Given the description of an element on the screen output the (x, y) to click on. 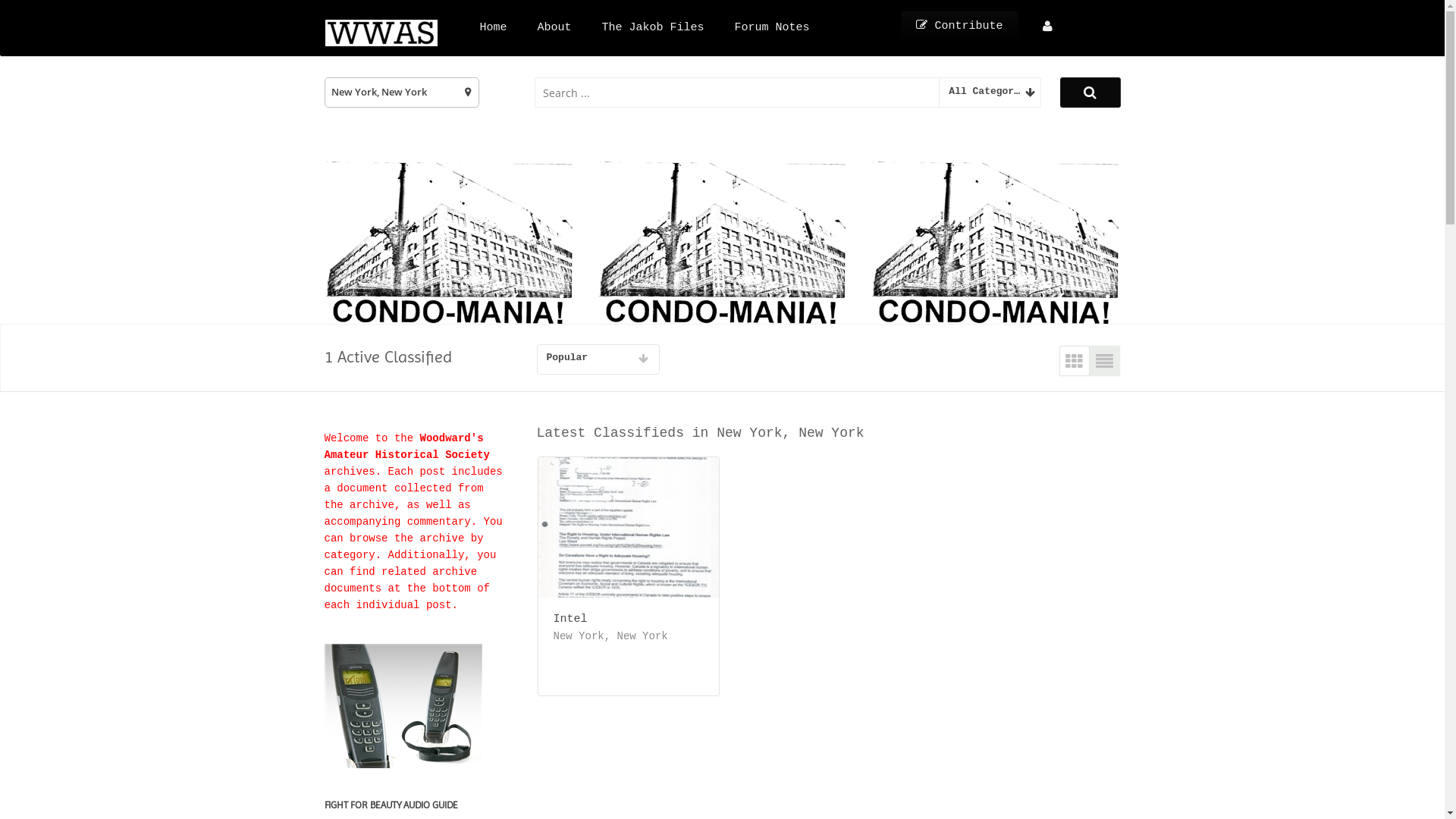
The Jakob Files Element type: text (652, 27)
New York, New York Element type: text (401, 92)
Popular Element type: text (597, 359)
All Categories Element type: text (989, 92)
About Element type: text (554, 27)
Login Element type: hover (1046, 27)
Contribute Element type: text (959, 26)
Home Element type: text (492, 27)
Forum Notes Element type: text (772, 27)
vpd-foi-3-0168 Element type: hover (633, 527)
Intel Element type: text (621, 617)
